Given the description of an element on the screen output the (x, y) to click on. 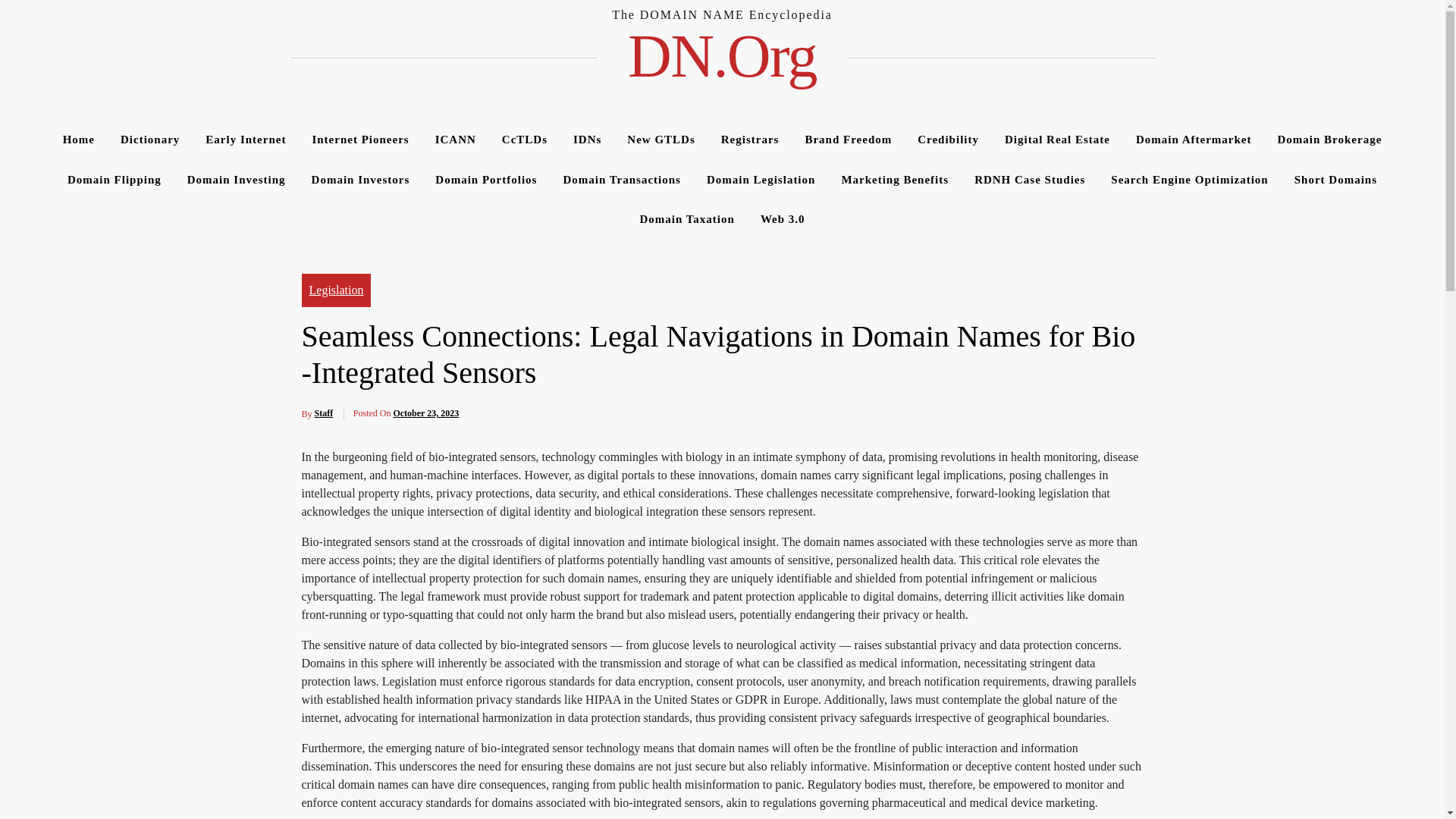
Domain Portfolios (485, 178)
Digital Real Estate (1056, 139)
Home (78, 139)
Web 3.0 (782, 219)
Domain Flipping (114, 178)
Brand Freedom (847, 139)
Domain Taxation (686, 219)
Dictionary (149, 139)
Domain Investing (236, 178)
CcTLDs (524, 139)
New GTLDs (660, 139)
Staff (323, 413)
October 23, 2023 (425, 413)
IDNs (587, 139)
Domain Aftermarket (1193, 139)
